Given the description of an element on the screen output the (x, y) to click on. 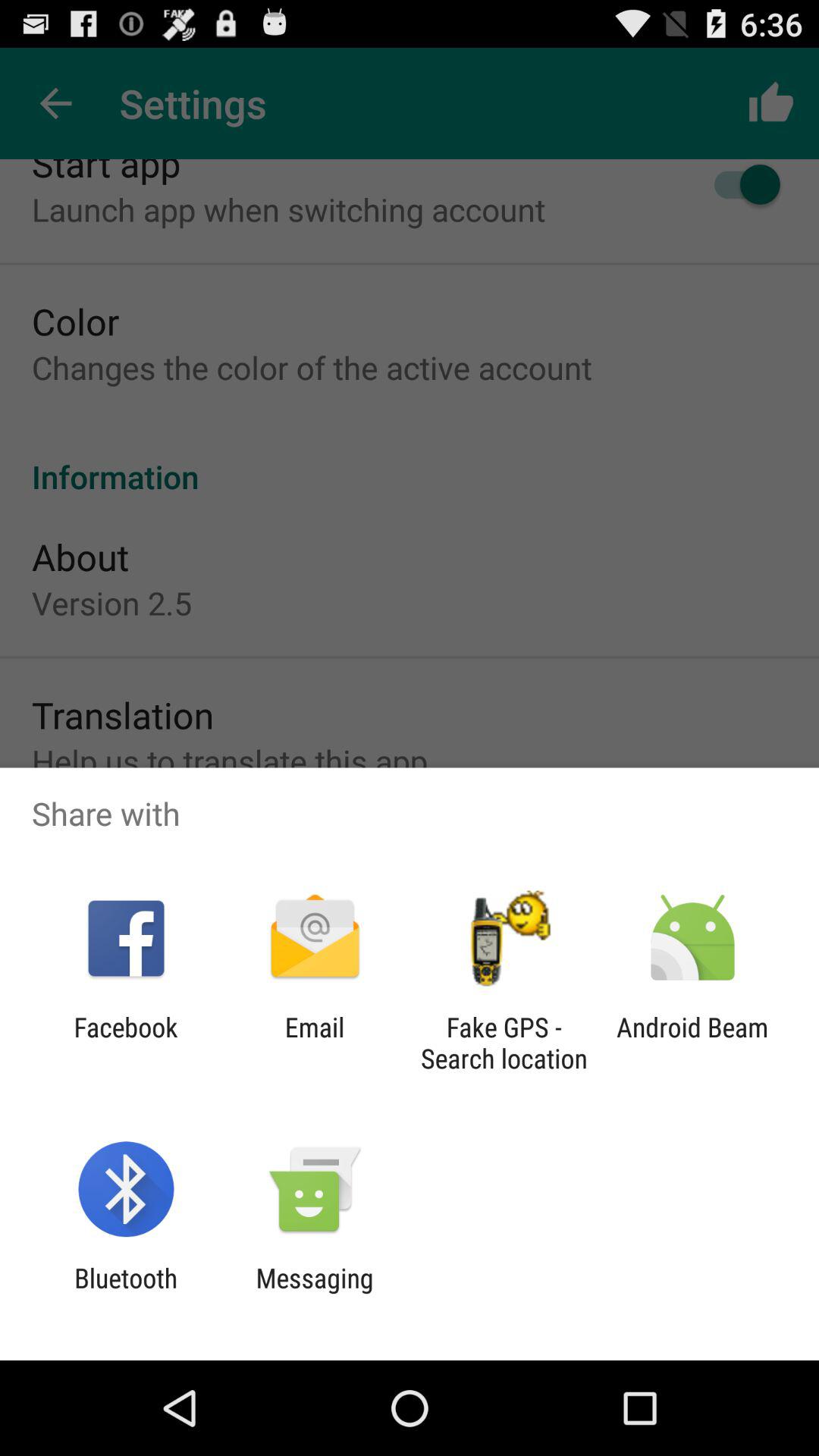
scroll until messaging icon (314, 1293)
